Given the description of an element on the screen output the (x, y) to click on. 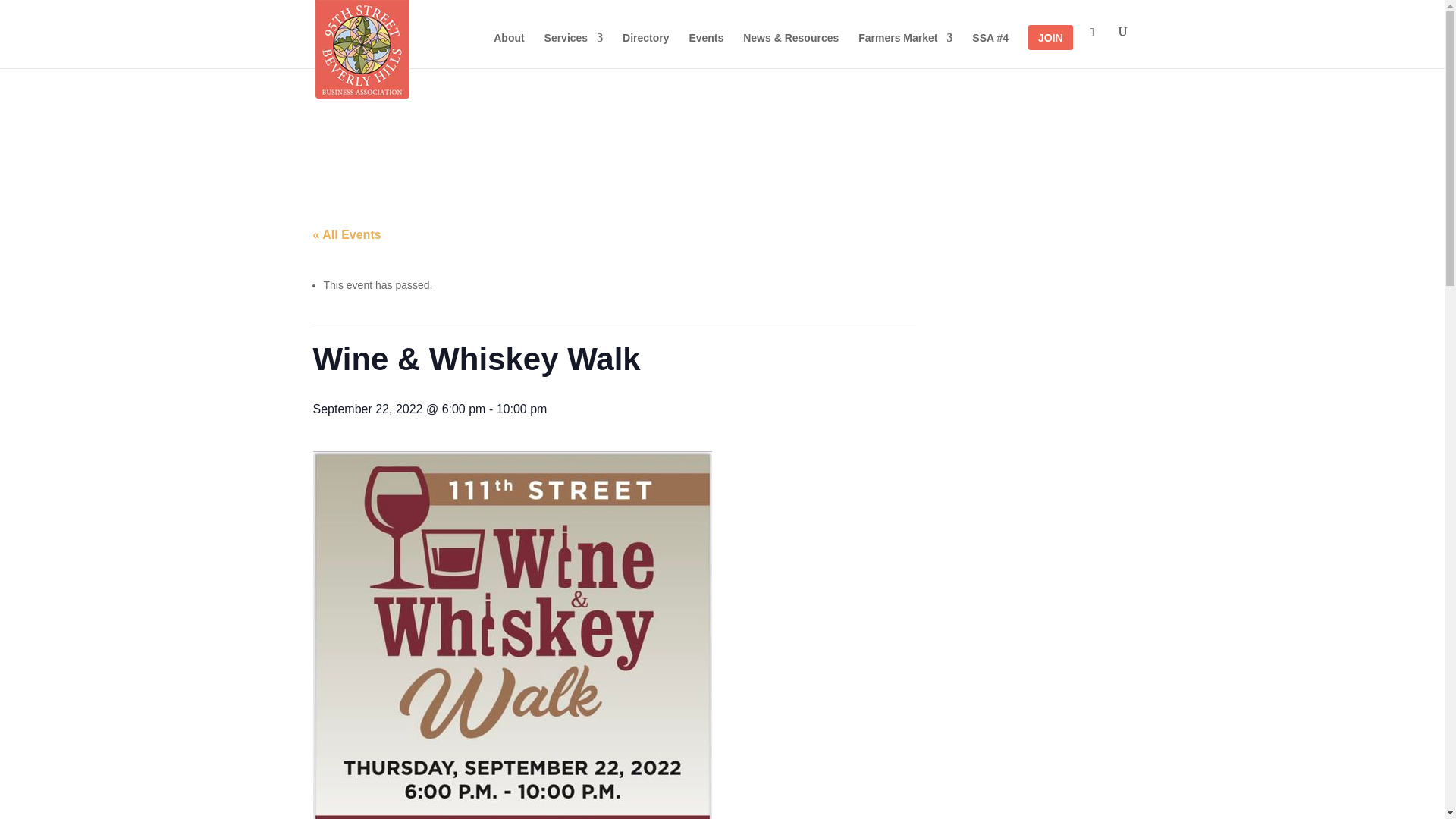
Directory (645, 49)
Services (574, 49)
Events (705, 49)
Farmers Market (905, 49)
